Given the description of an element on the screen output the (x, y) to click on. 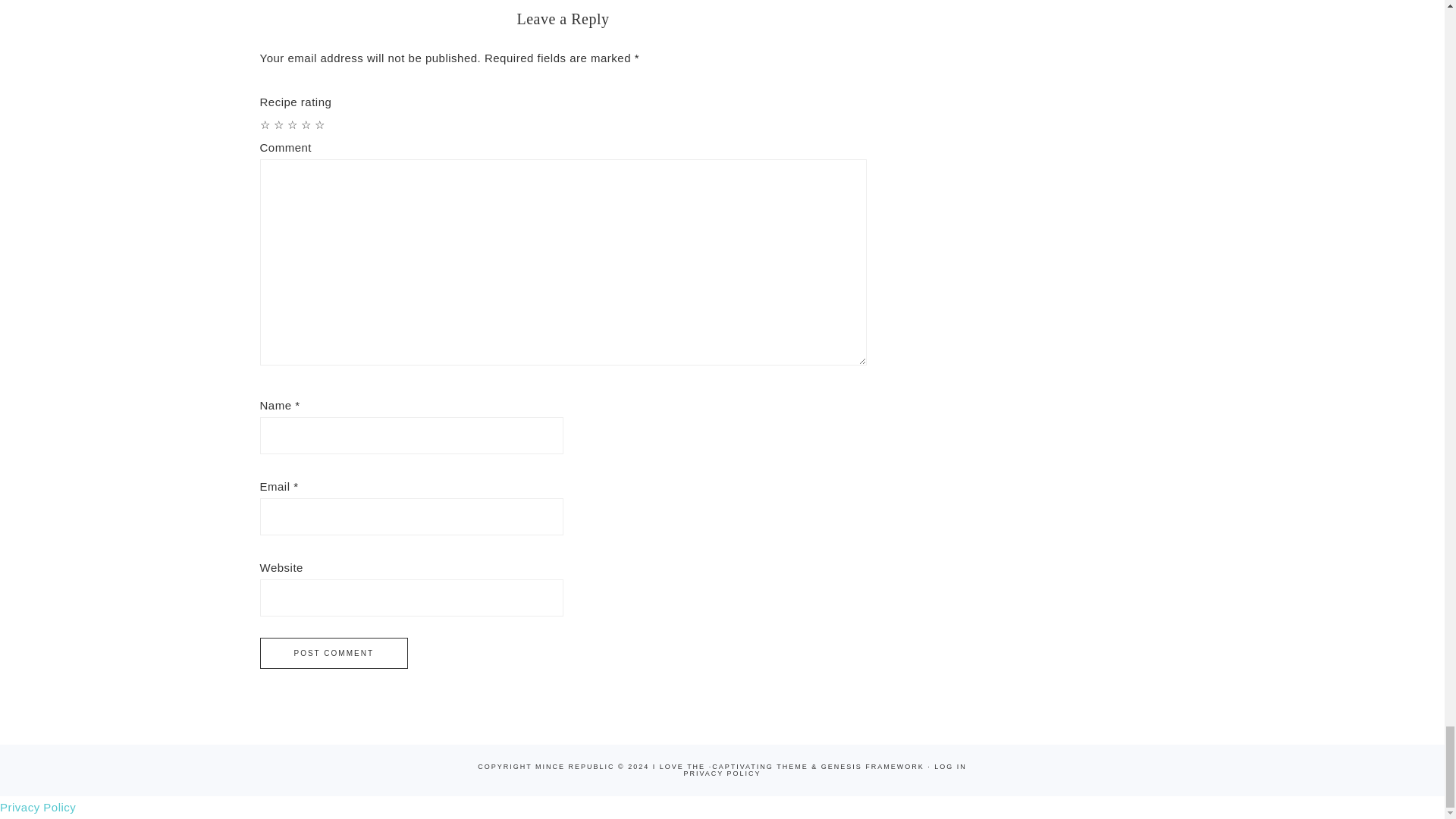
Post Comment (333, 653)
